Given the description of an element on the screen output the (x, y) to click on. 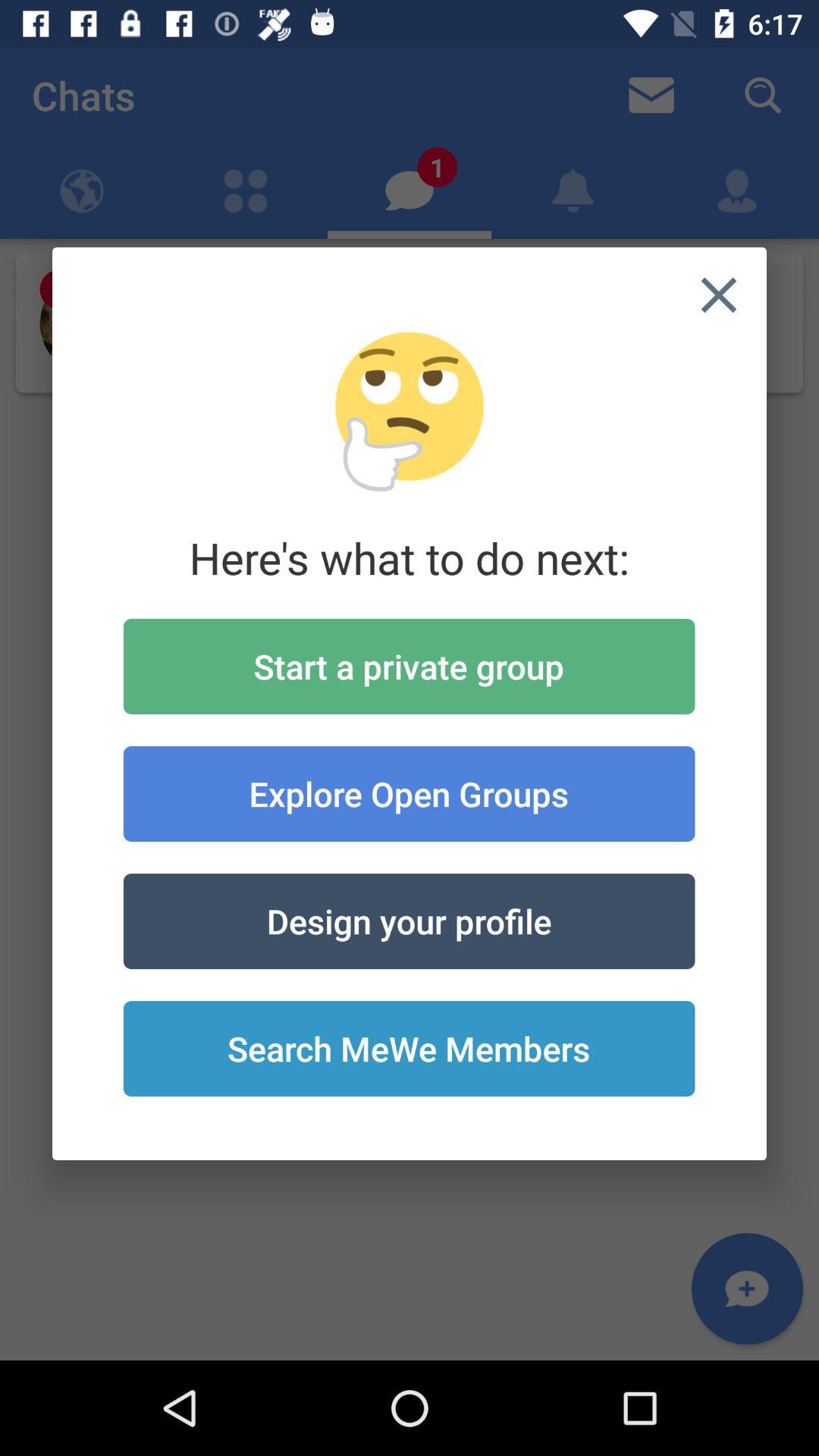
scroll to start a private icon (409, 666)
